Given the description of an element on the screen output the (x, y) to click on. 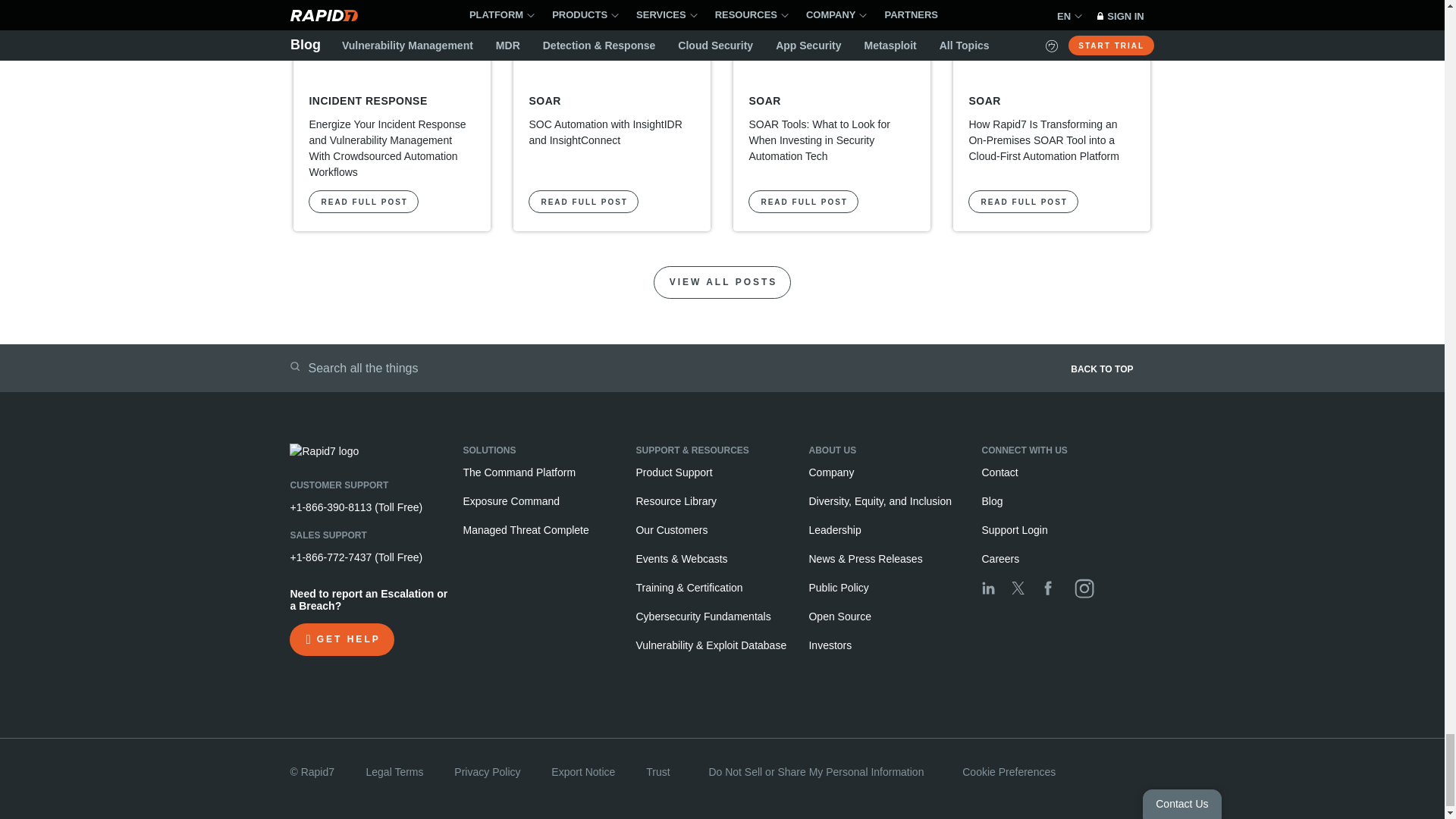
Submit Search (294, 366)
BACK TO TOP (949, 374)
Submit Search (294, 366)
